Given the description of an element on the screen output the (x, y) to click on. 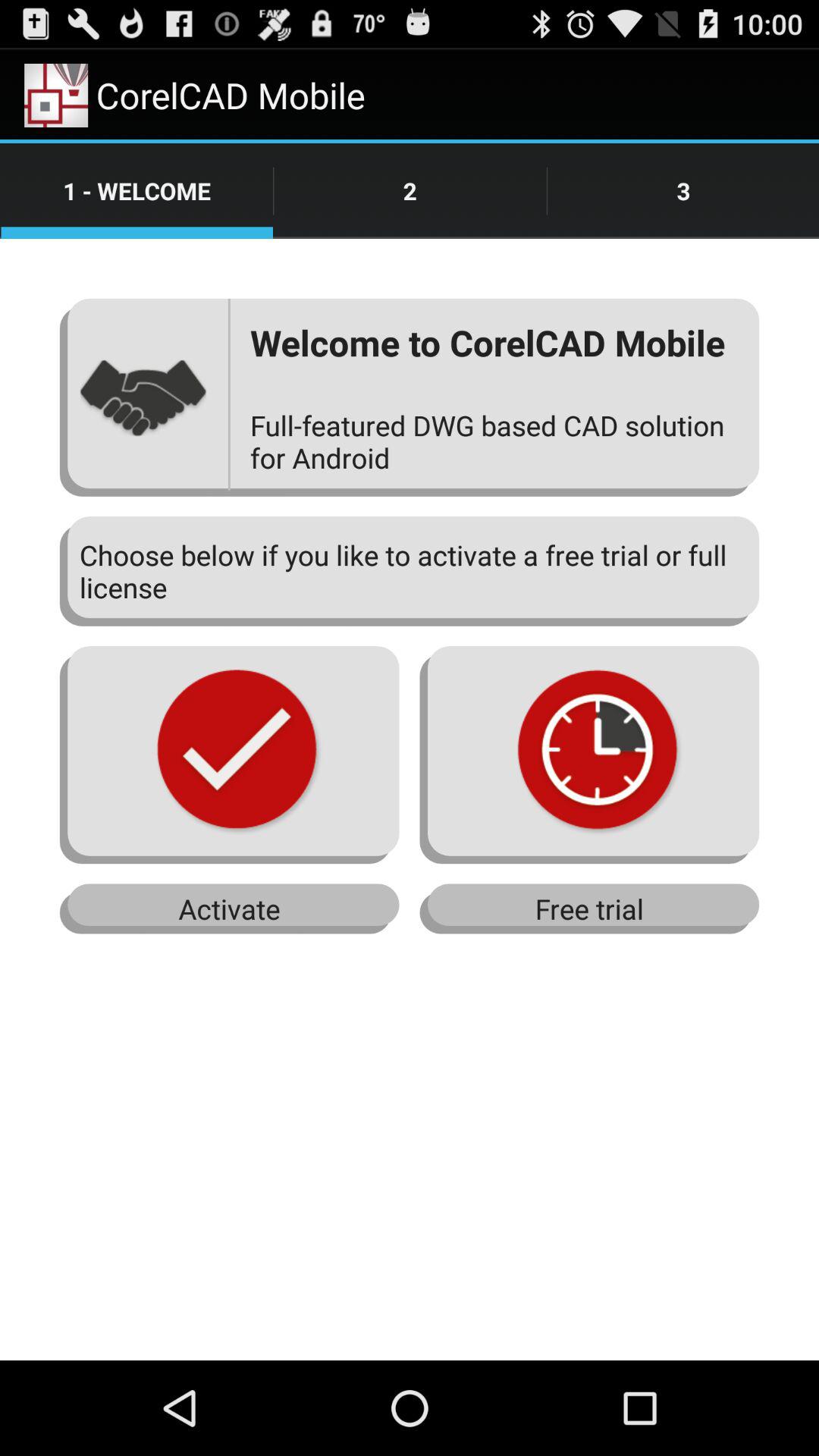
click on the number three option at the top right corner of the page (683, 190)
click the activate  button (229, 908)
click on the button beside activate (589, 908)
click on icon on the left side of 2 (136, 190)
tap on number 2 shown next to 1 welcome (410, 190)
select the image below free trail (589, 754)
go to the box that reads the text activate (229, 908)
click on the first image from left (229, 754)
tap on the box shown above activate (229, 754)
select the icon beside coralcad mobile (55, 95)
the label shown in the first box below 1  welcome (143, 396)
click on the image above the text free trial (589, 754)
click on icon on the left side of corelcad mobile (56, 95)
